Given the description of an element on the screen output the (x, y) to click on. 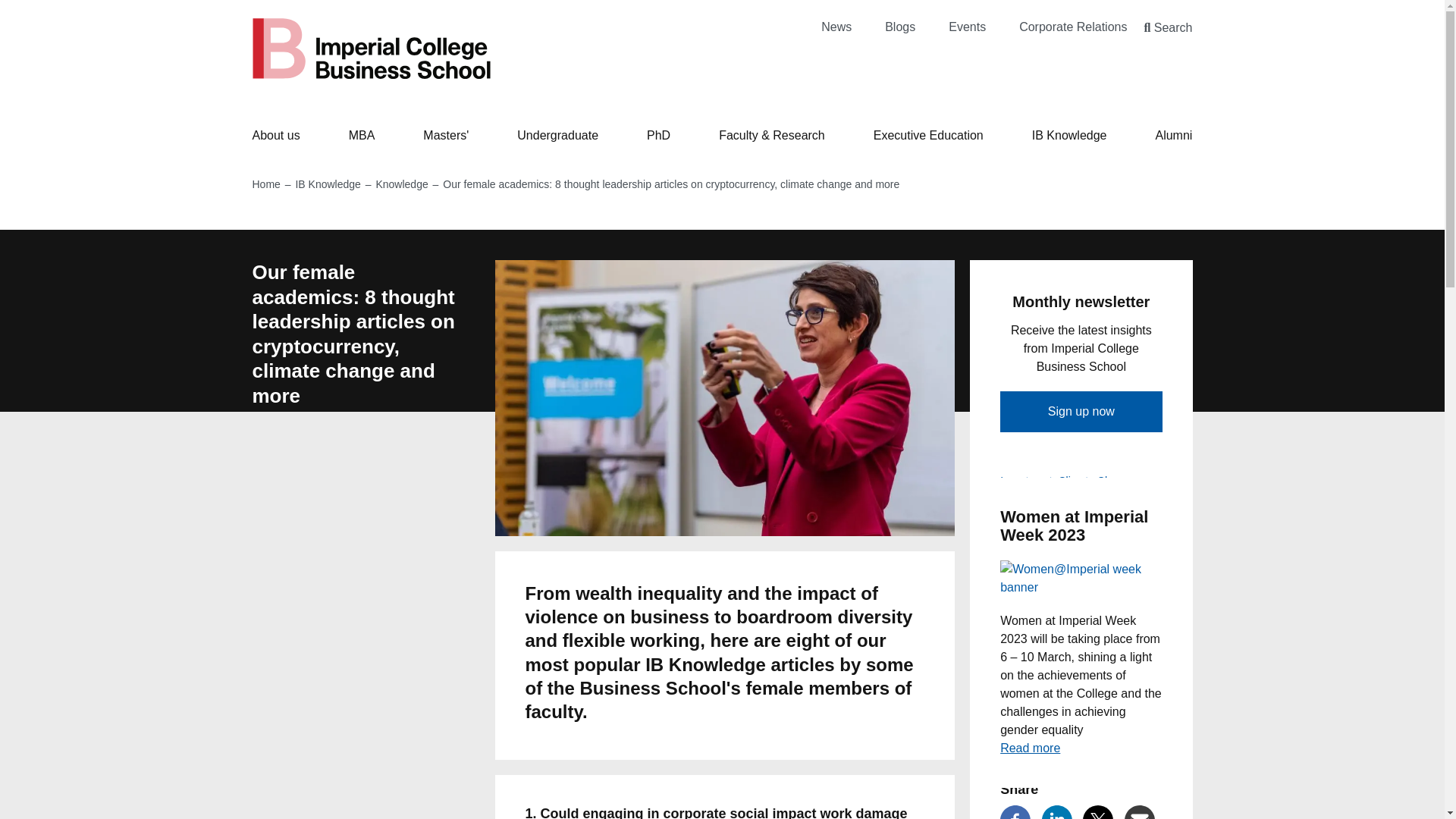
Blogs (900, 26)
Home (370, 48)
MSc (445, 134)
MBA (362, 134)
Thumbnail for Women at Imperial Week 2023 (1080, 578)
About us (275, 134)
Masters' (445, 134)
Corporate Relations (1072, 26)
Events (967, 26)
News (836, 26)
Search (1167, 27)
